Given the description of an element on the screen output the (x, y) to click on. 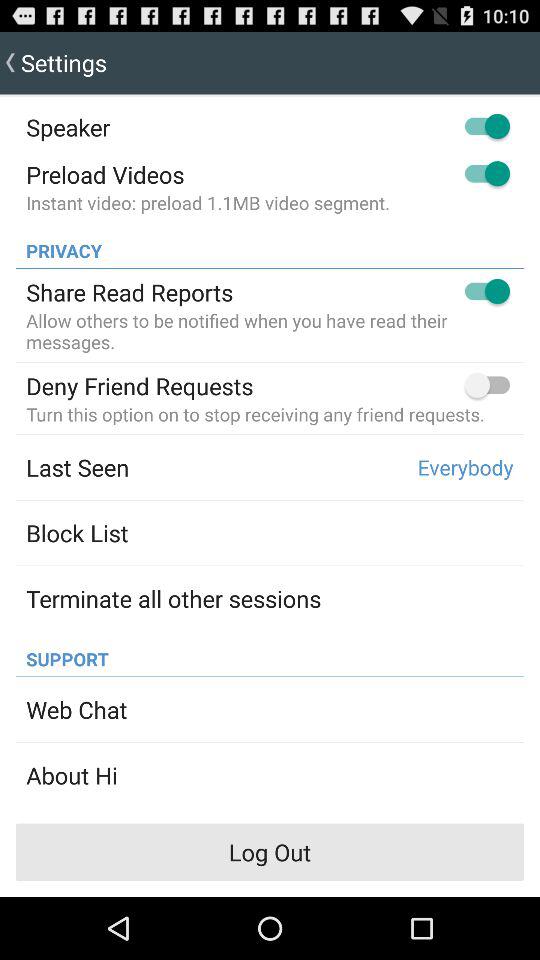
jump to the share read reports app (129, 292)
